Given the description of an element on the screen output the (x, y) to click on. 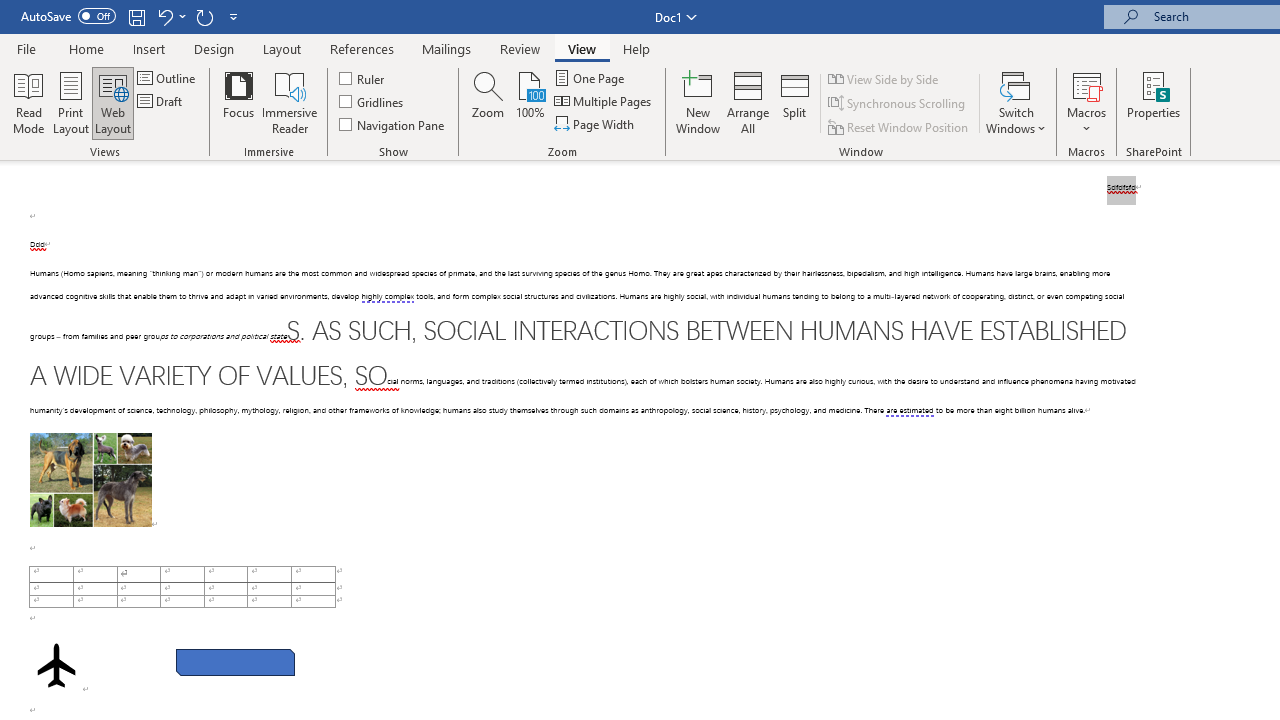
Rectangle: Diagonal Corners Snipped 2 (235, 662)
Zoom... (488, 102)
Focus (238, 102)
Outline (168, 78)
Ruler (362, 78)
Arrange All (747, 102)
View Macros (1086, 84)
Synchronous Scrolling (898, 103)
One Page (590, 78)
Page Width (595, 124)
Immersive Reader (289, 102)
Undo Paragraph Alignment (164, 15)
